Given the description of an element on the screen output the (x, y) to click on. 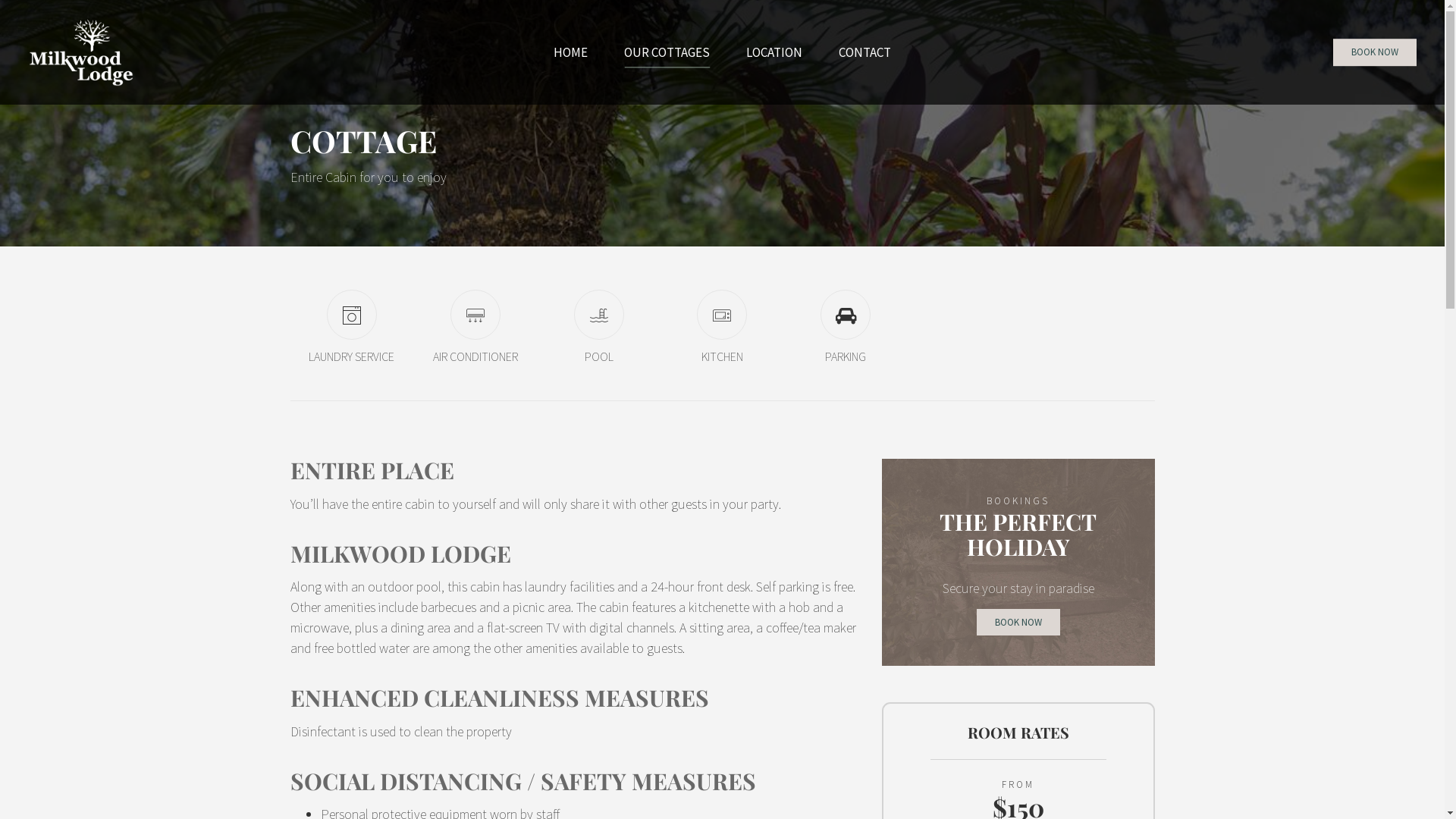
OUR COTTAGES Element type: text (666, 51)
CONTACT Element type: text (864, 51)
BOOK NOW Element type: text (1374, 51)
HOME Element type: text (570, 51)
BOOK NOW Element type: text (1018, 621)
LOCATION Element type: text (774, 51)
